Given the description of an element on the screen output the (x, y) to click on. 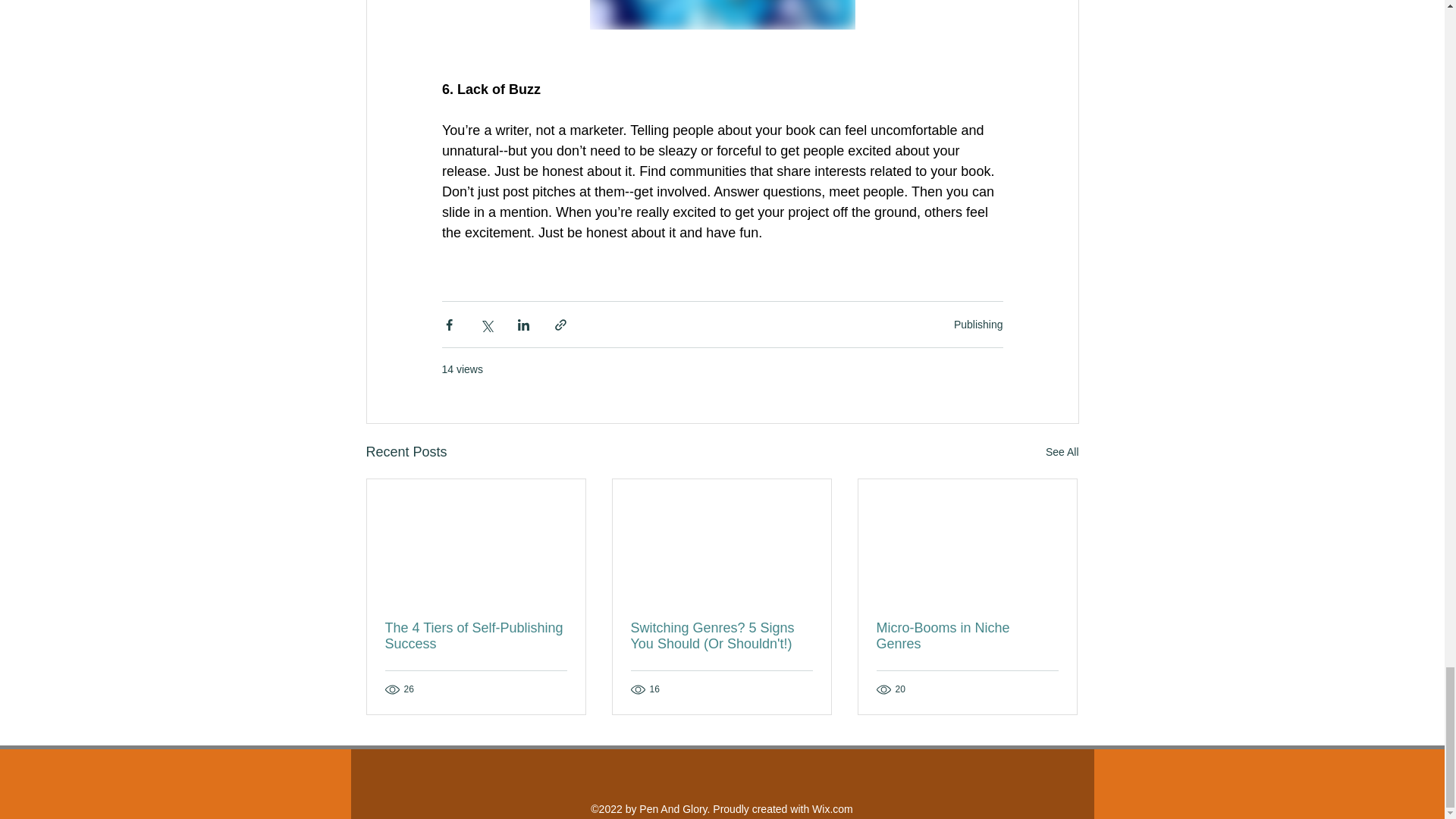
See All (1061, 452)
Micro-Booms in Niche Genres (967, 635)
The 4 Tiers of Self-Publishing Success (476, 635)
Publishing (978, 324)
